Given the description of an element on the screen output the (x, y) to click on. 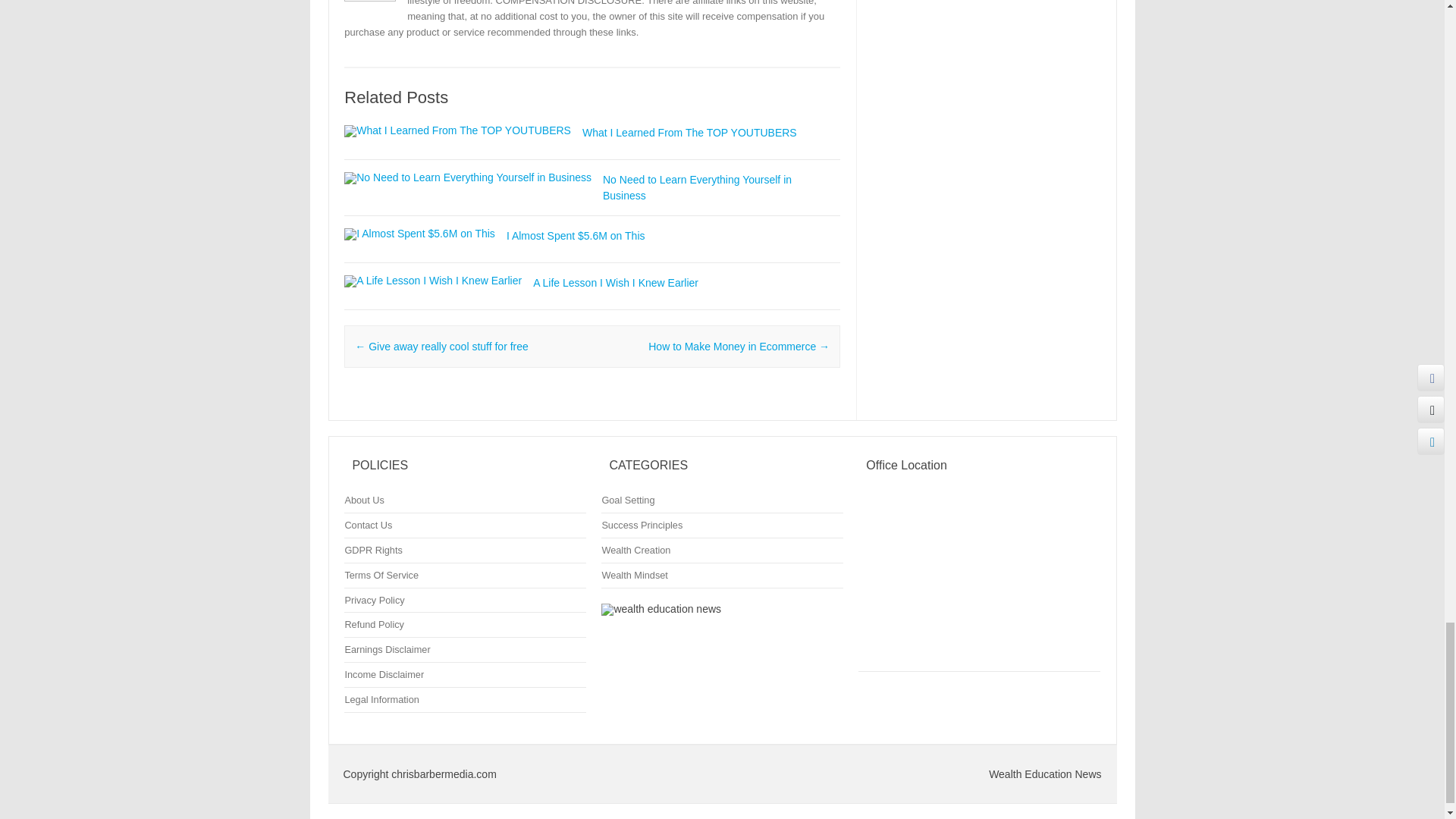
No Need to Learn Everything Yourself in Business (697, 187)
What I Learned From The TOP YOUTUBERS (689, 132)
A Life Lesson I Wish I Knew Earlier (432, 280)
No Need to Learn Everything Yourself in Business (467, 177)
A Life Lesson I Wish I Knew Earlier (615, 282)
What I Learned From The TOP YOUTUBERS (456, 130)
What I Learned From The TOP YOUTUBERS (689, 132)
No Need to Learn Everything Yourself in Business (697, 187)
